Given the description of an element on the screen output the (x, y) to click on. 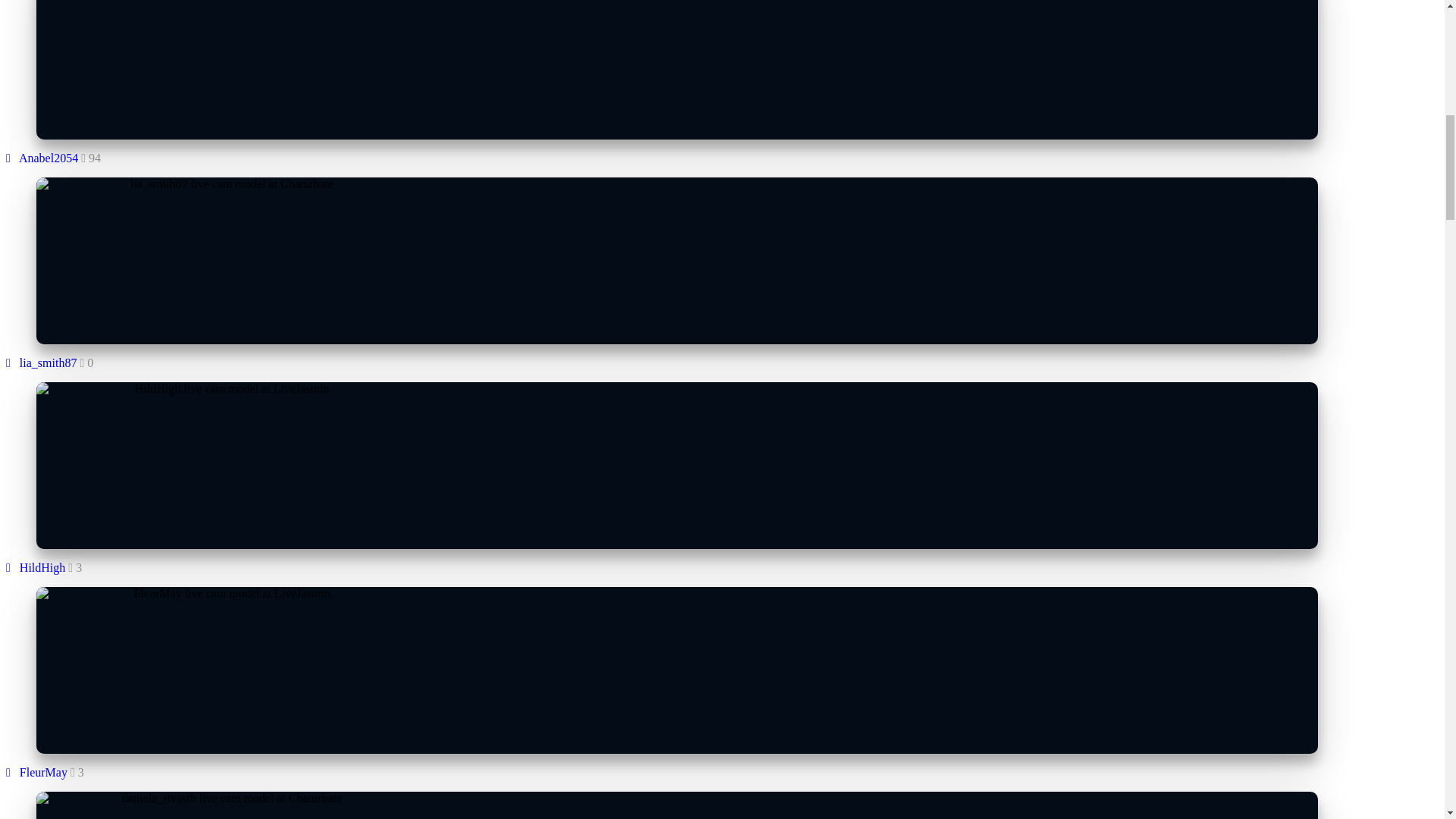
  HildHigh (35, 567)
  FleurMay (35, 771)
  Anabel2054 (41, 157)
